Given the description of an element on the screen output the (x, y) to click on. 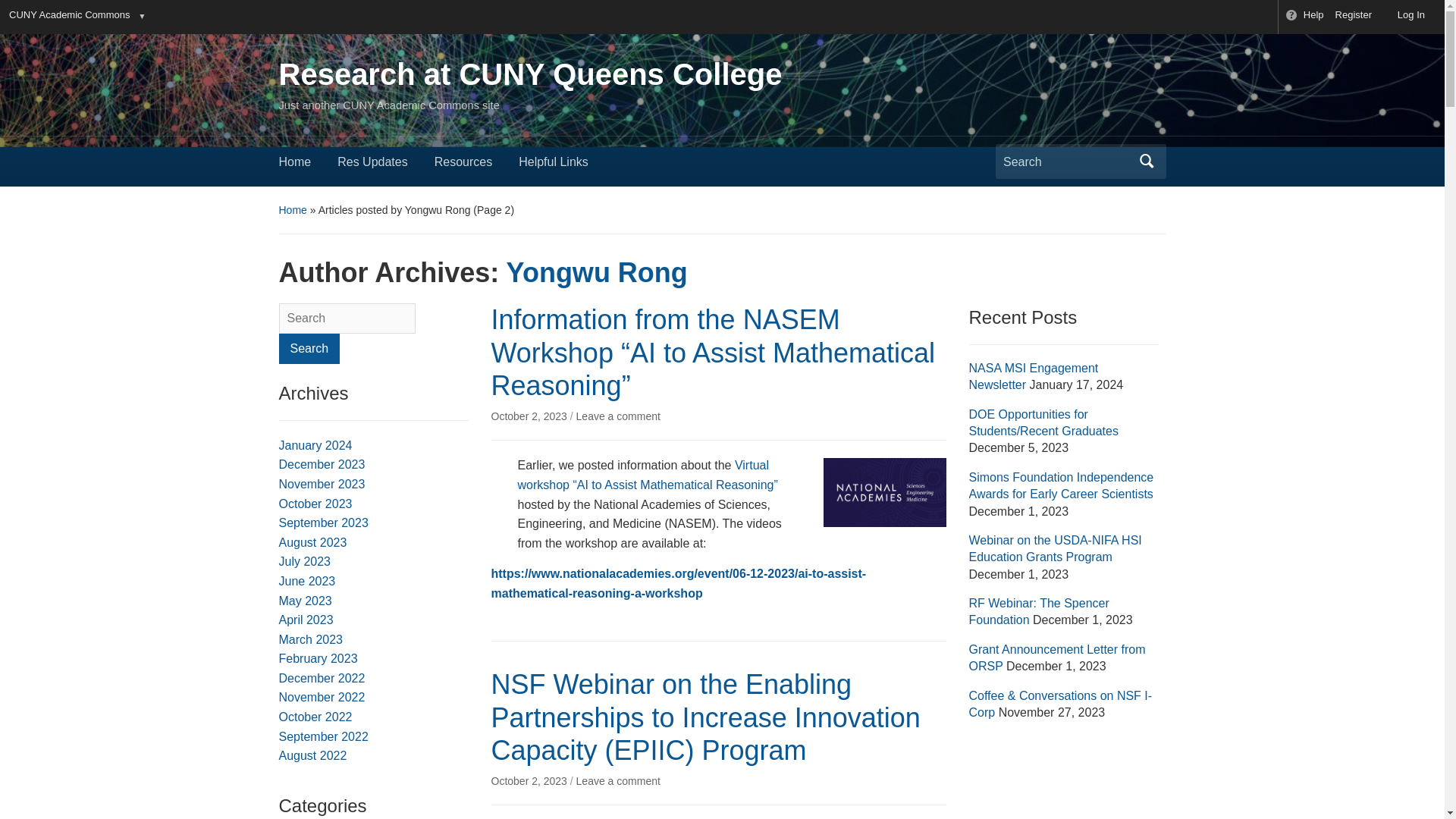
September 2023 (323, 522)
Helpful Links (566, 166)
November 2022 (322, 697)
December 2022 (322, 677)
February 2023 (318, 658)
Search (309, 348)
Register (1353, 17)
March 2023 (311, 639)
Log In (1404, 17)
October 2022 (315, 716)
